Given the description of an element on the screen output the (x, y) to click on. 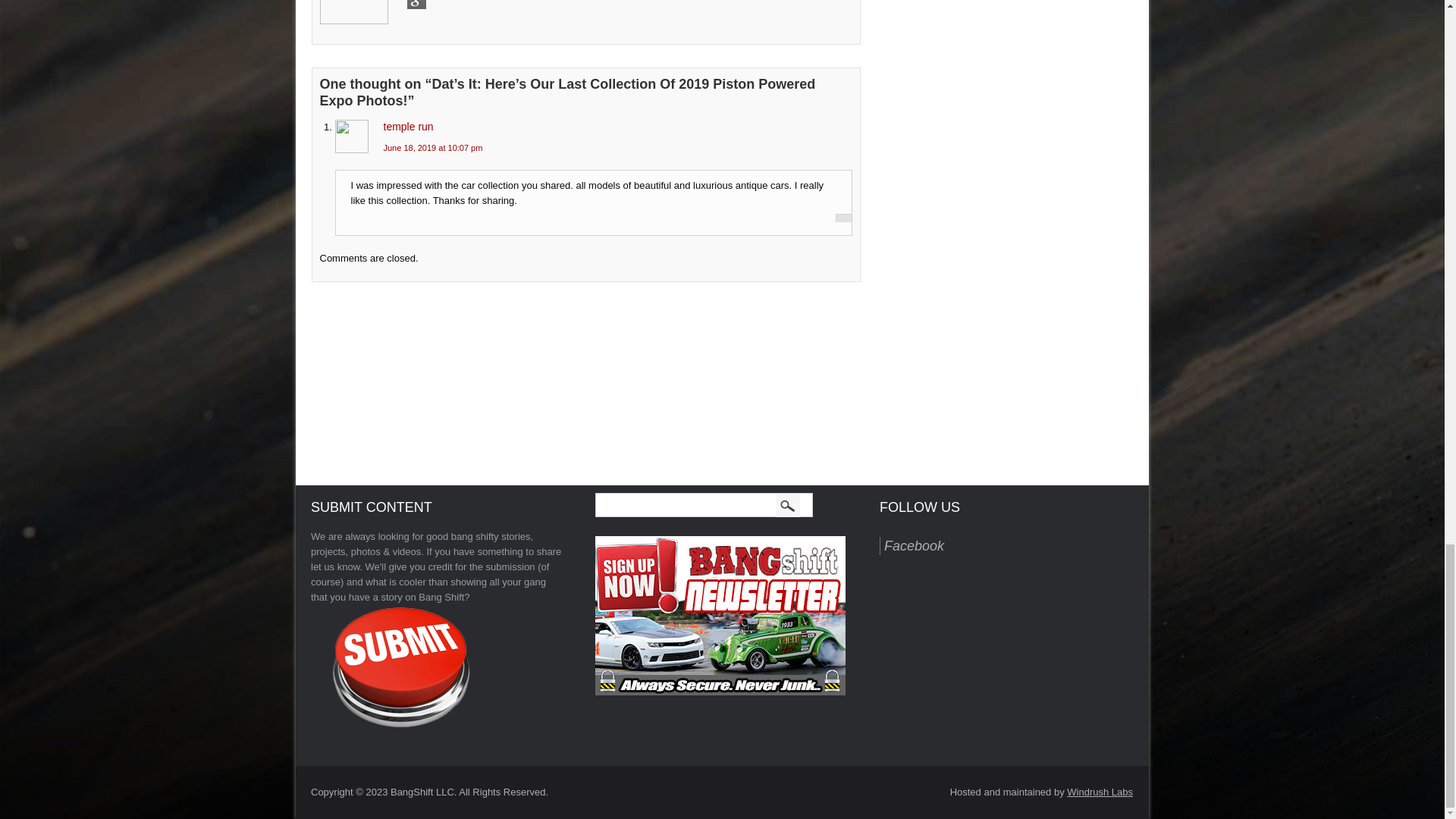
Search (788, 505)
